Given the description of an element on the screen output the (x, y) to click on. 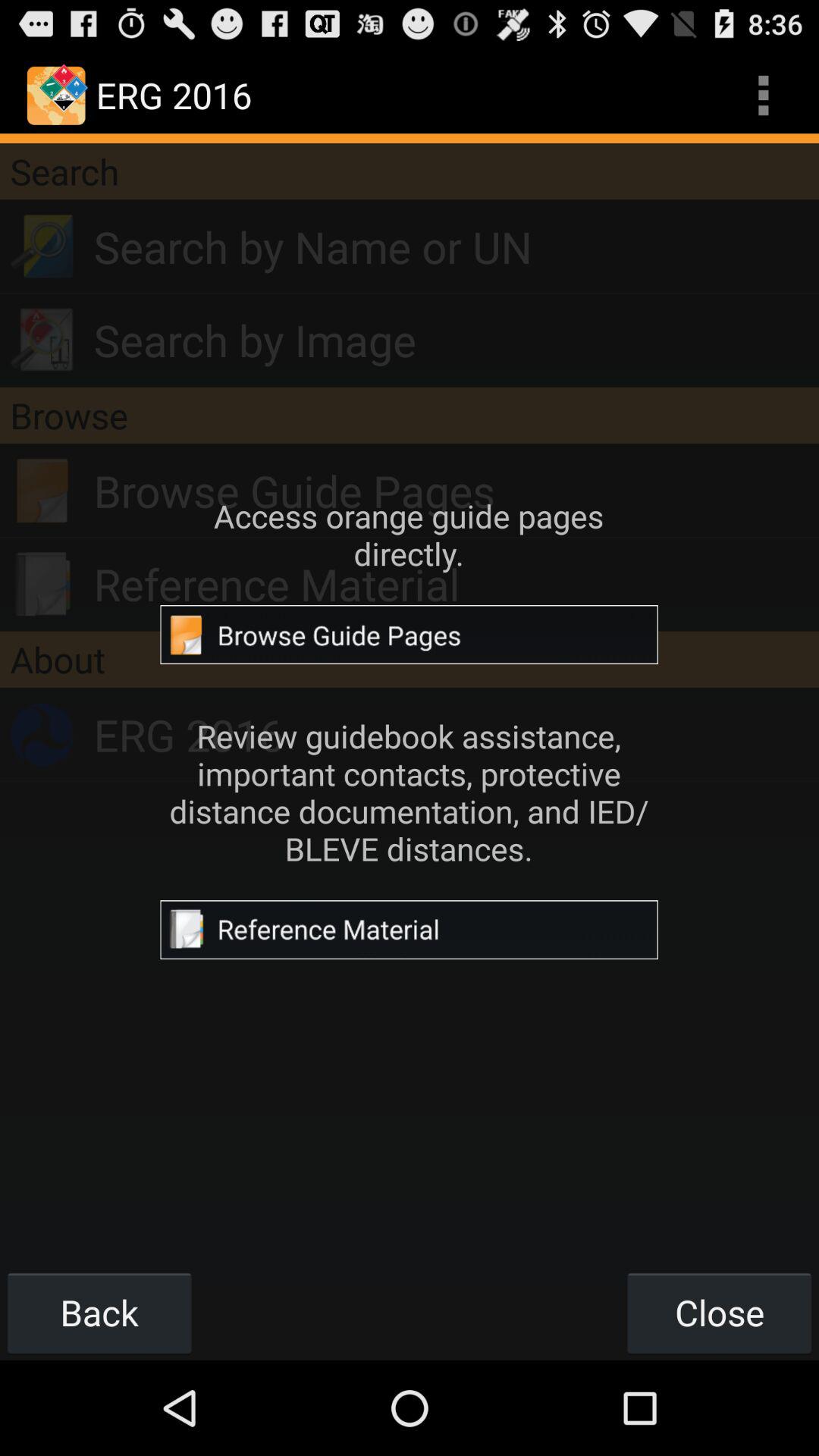
choose item above the erg 2016 icon (409, 659)
